Given the description of an element on the screen output the (x, y) to click on. 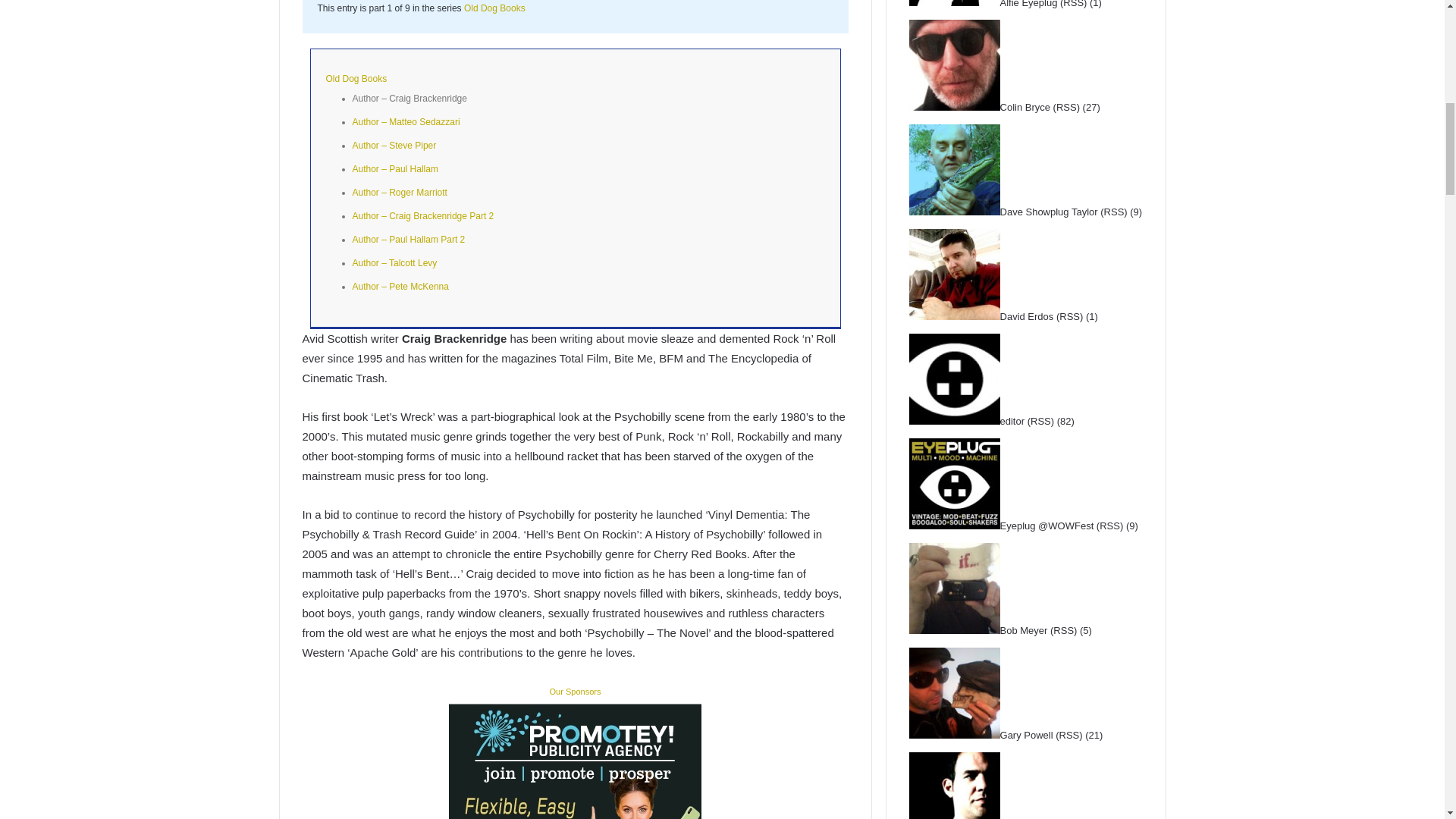
Old Dog Books (494, 8)
